Given the description of an element on the screen output the (x, y) to click on. 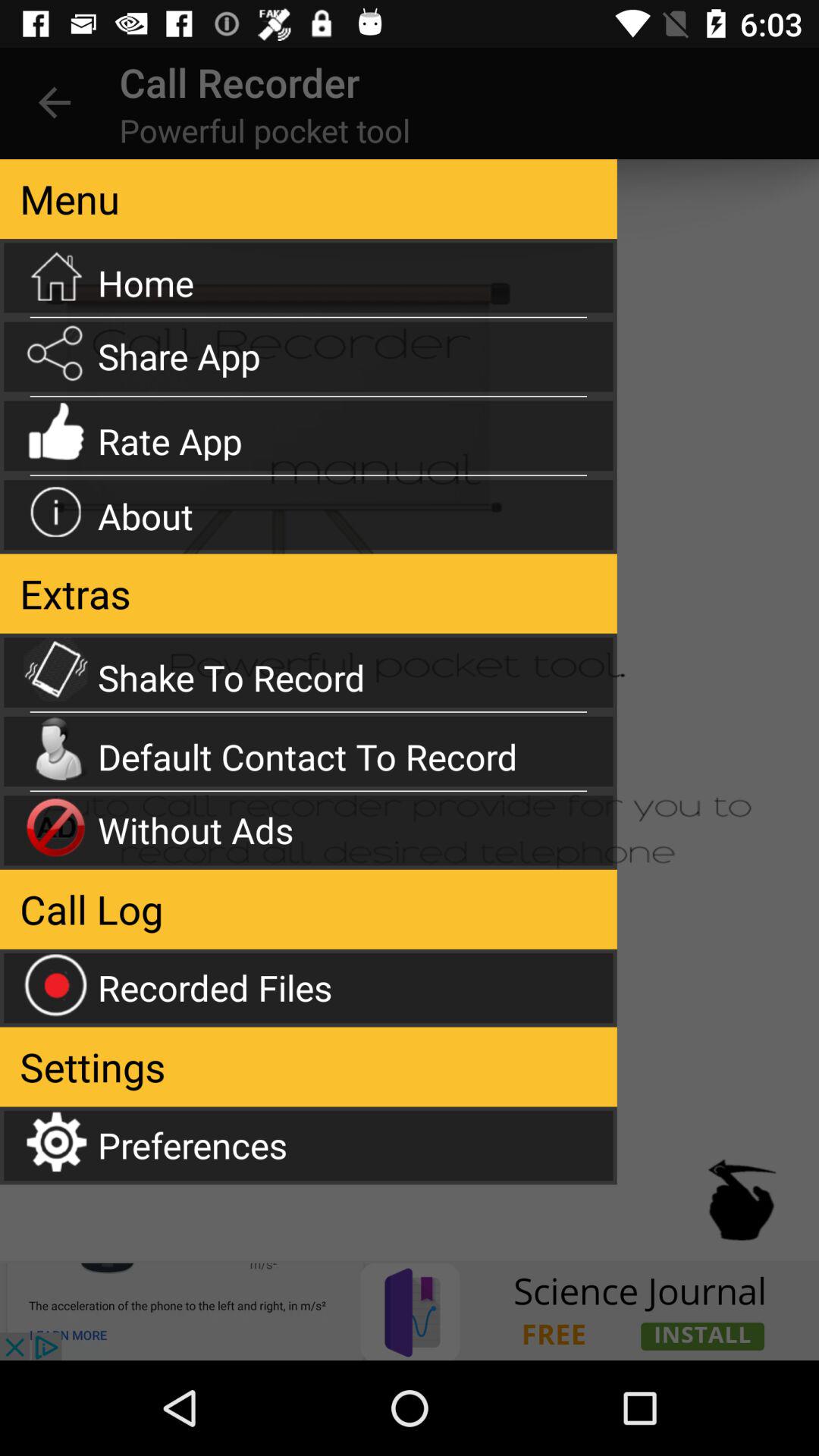
select the option home (308, 278)
select the icon shake to record (55, 669)
click on the icon beside without ads (55, 826)
select the icon which is left side of the recorded files (55, 984)
select the icon which is left side of the default contact to record (55, 748)
click on the option about (308, 515)
